Given the description of an element on the screen output the (x, y) to click on. 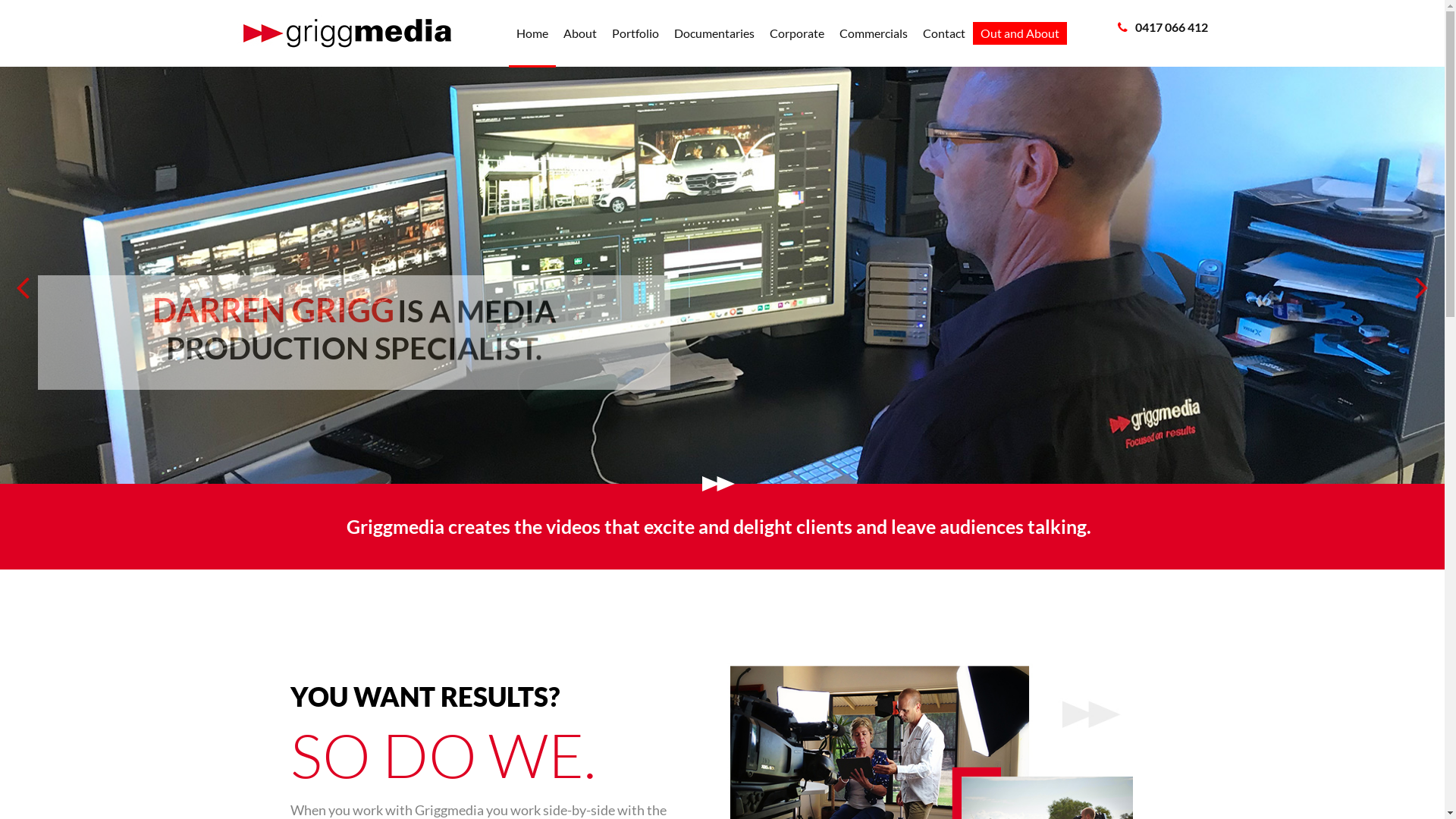
0417 066 412 Element type: text (1170, 26)
Commercials Element type: text (872, 32)
Out and About Element type: text (1019, 32)
Home Element type: text (531, 32)
Corporate Element type: text (796, 32)
About Element type: text (579, 32)
Portfolio Element type: text (634, 32)
Contact Element type: text (943, 32)
Next Element type: text (1421, 274)
Documentaries Element type: text (713, 32)
Previous Element type: text (22, 274)
